Given the description of an element on the screen output the (x, y) to click on. 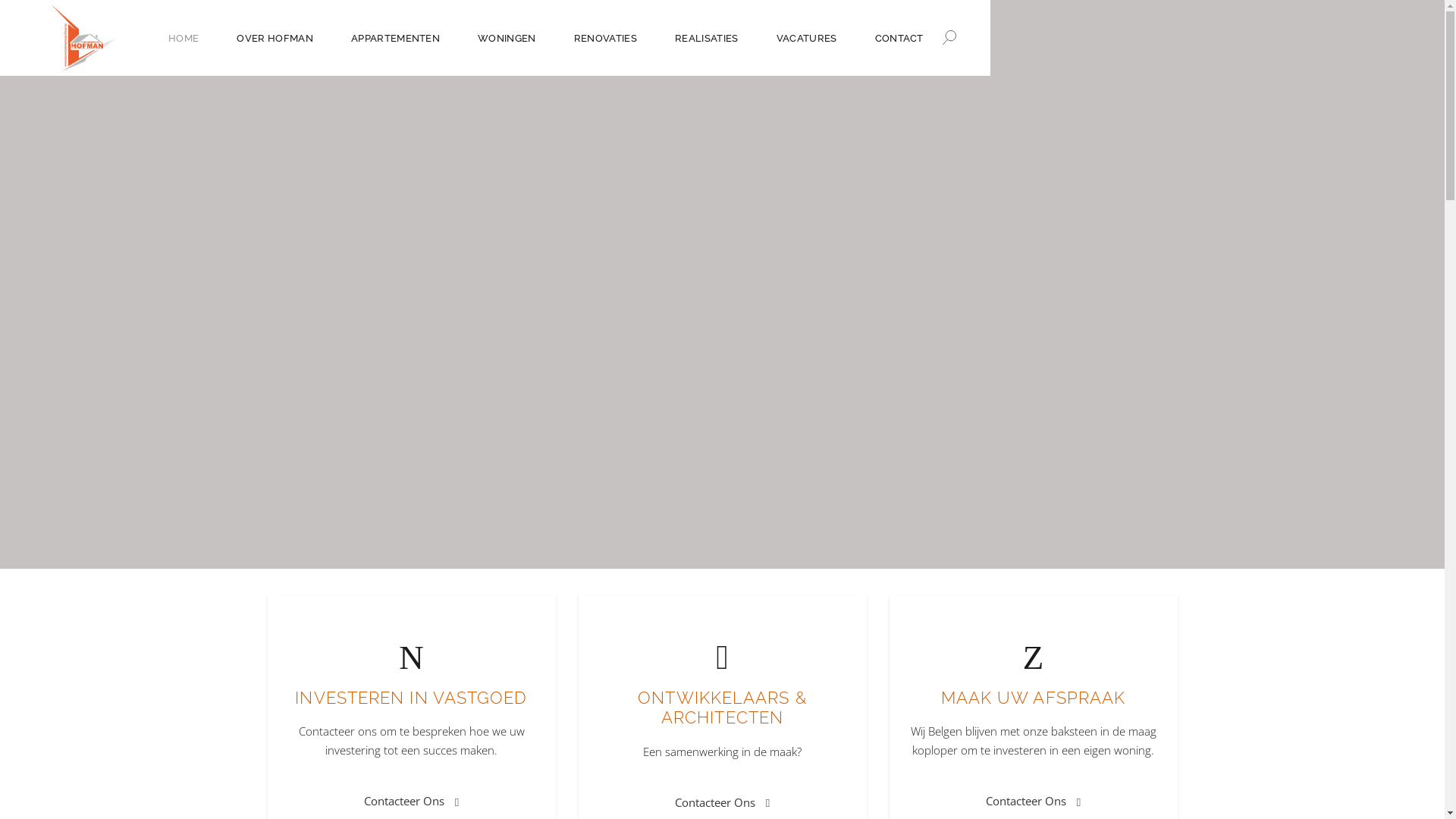
OVER HOFMAN Element type: text (274, 37)
INVESTEREN IN VASTGOED Element type: text (410, 697)
REALISATIES Element type: text (706, 37)
Contacteer Ons Element type: text (411, 799)
VACATURES Element type: text (806, 37)
ONTWIKKELAARS & ARCHITECTEN Element type: text (721, 707)
RENOVATIES Element type: text (605, 37)
Contacteer Ons Element type: text (1032, 799)
Contacteer Ons Element type: text (721, 801)
HOME Element type: text (183, 37)
CONTACT Element type: text (899, 37)
WONINGEN Element type: text (506, 37)
APPARTEMENTEN Element type: text (395, 37)
MAAK UW AFSPRAAK Element type: text (1033, 697)
